Given the description of an element on the screen output the (x, y) to click on. 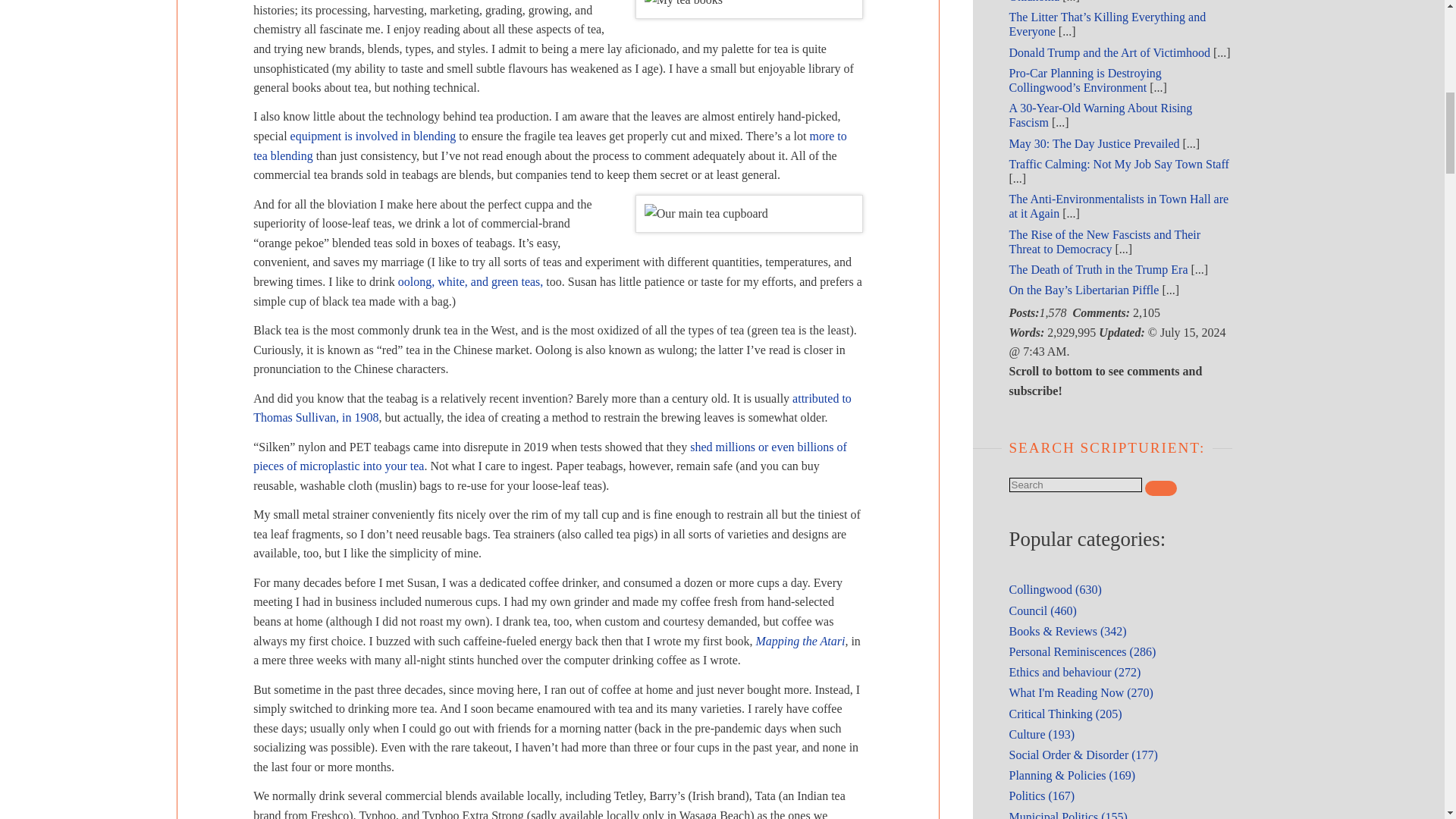
May 30: The Day Justice Prevailed (1094, 143)
Donald Trump and the Art of Victimhood (1109, 51)
Traffic Calming: Not My Job Say Town Staff (1118, 164)
A 30-Year-Old Warning About Rising Fascism (1100, 114)
Christofascists Make Their Move in Oklahoma (1096, 1)
